Given the description of an element on the screen output the (x, y) to click on. 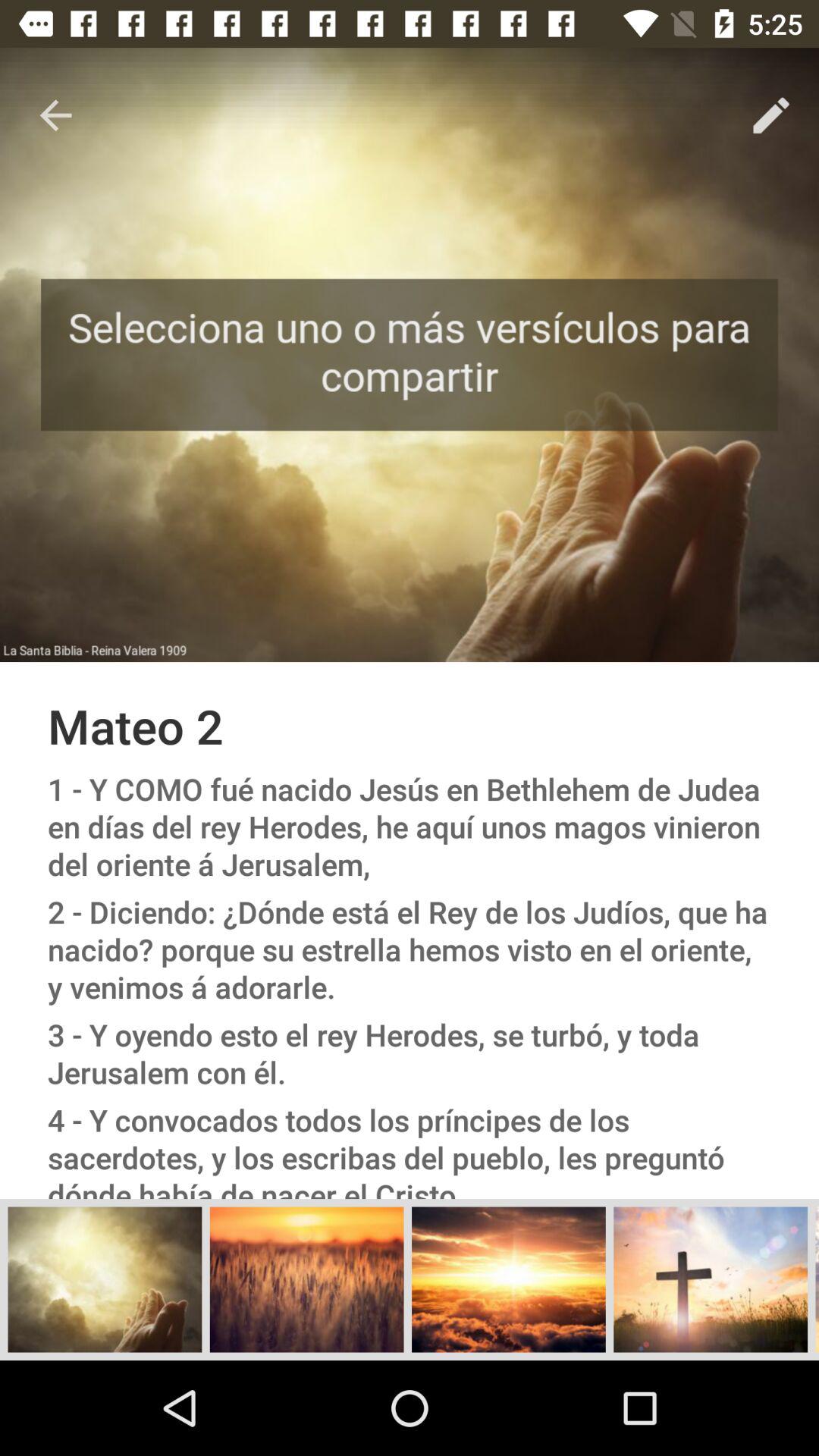
turn on icon at the bottom left corner (104, 1279)
